Given the description of an element on the screen output the (x, y) to click on. 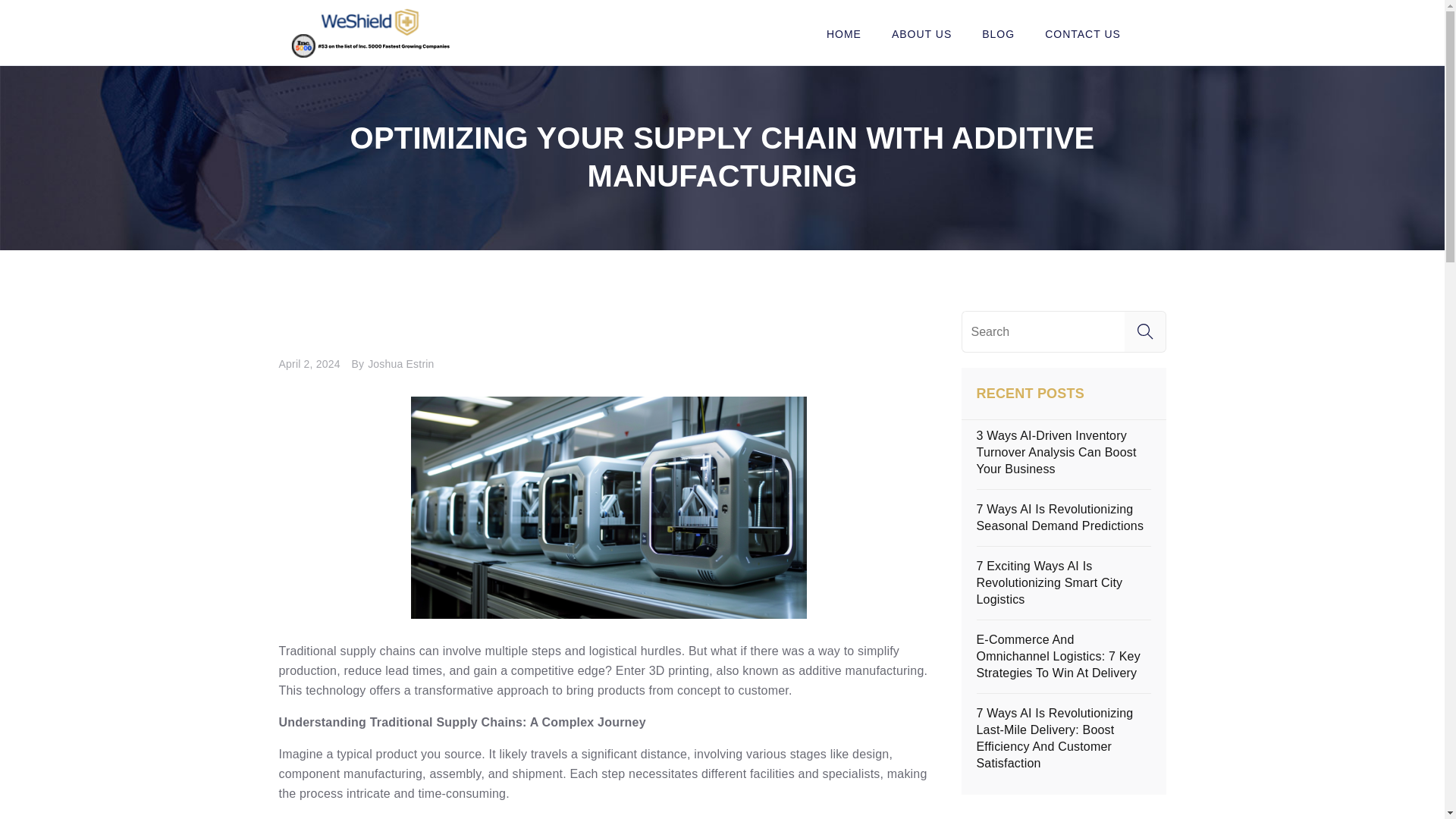
HOME (843, 34)
ABOUT US (921, 34)
CONTACT US (1090, 34)
7 Exciting Ways AI Is Revolutionizing Smart City Logistics (1049, 582)
Joshua Estrin (395, 363)
April 2, 2024 (313, 363)
7 Ways AI Is Revolutionizing Seasonal Demand Predictions (1060, 517)
BLOG (997, 34)
